Given the description of an element on the screen output the (x, y) to click on. 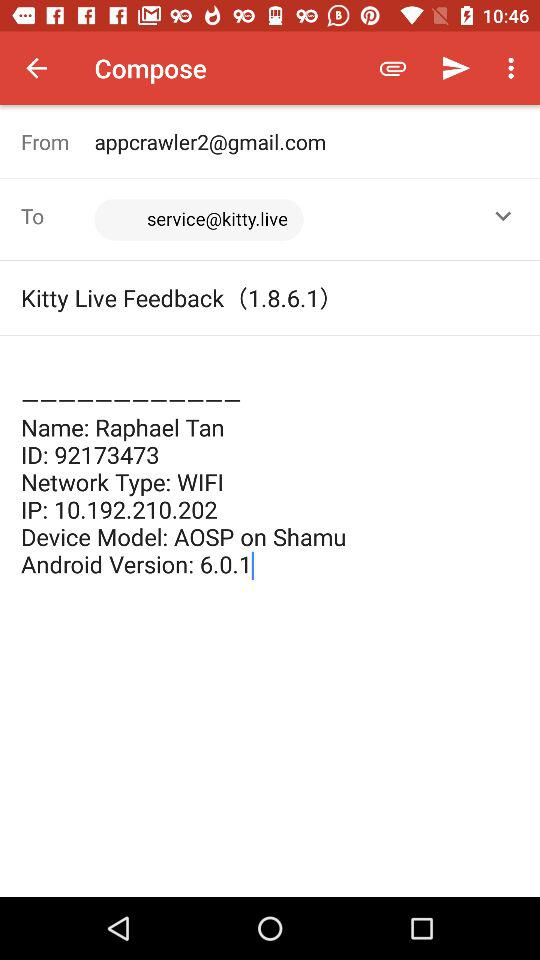
tap icon next to compose icon (36, 68)
